Given the description of an element on the screen output the (x, y) to click on. 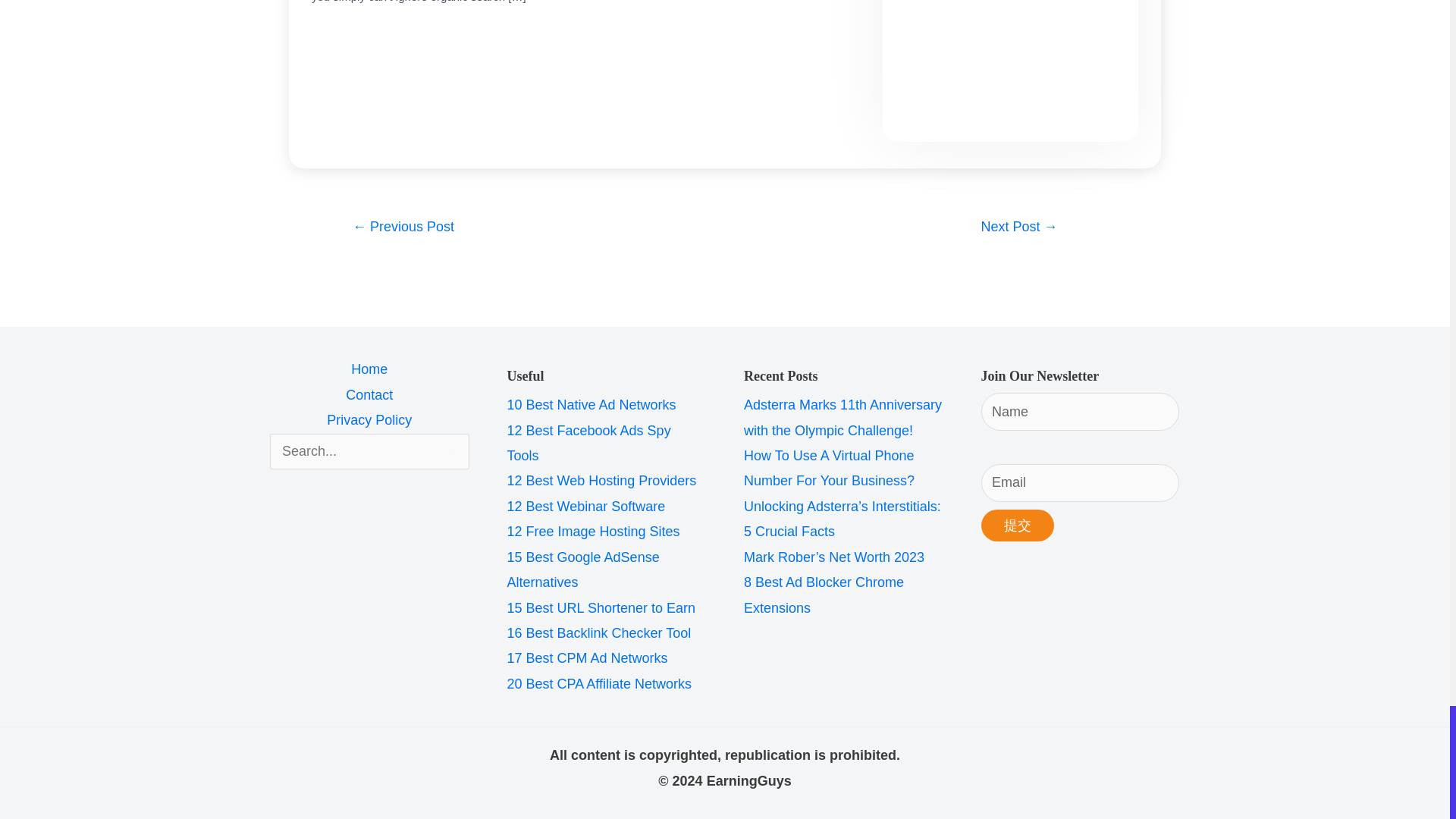
Email (1080, 483)
Name (1080, 411)
Search (451, 450)
Search (451, 450)
